Given the description of an element on the screen output the (x, y) to click on. 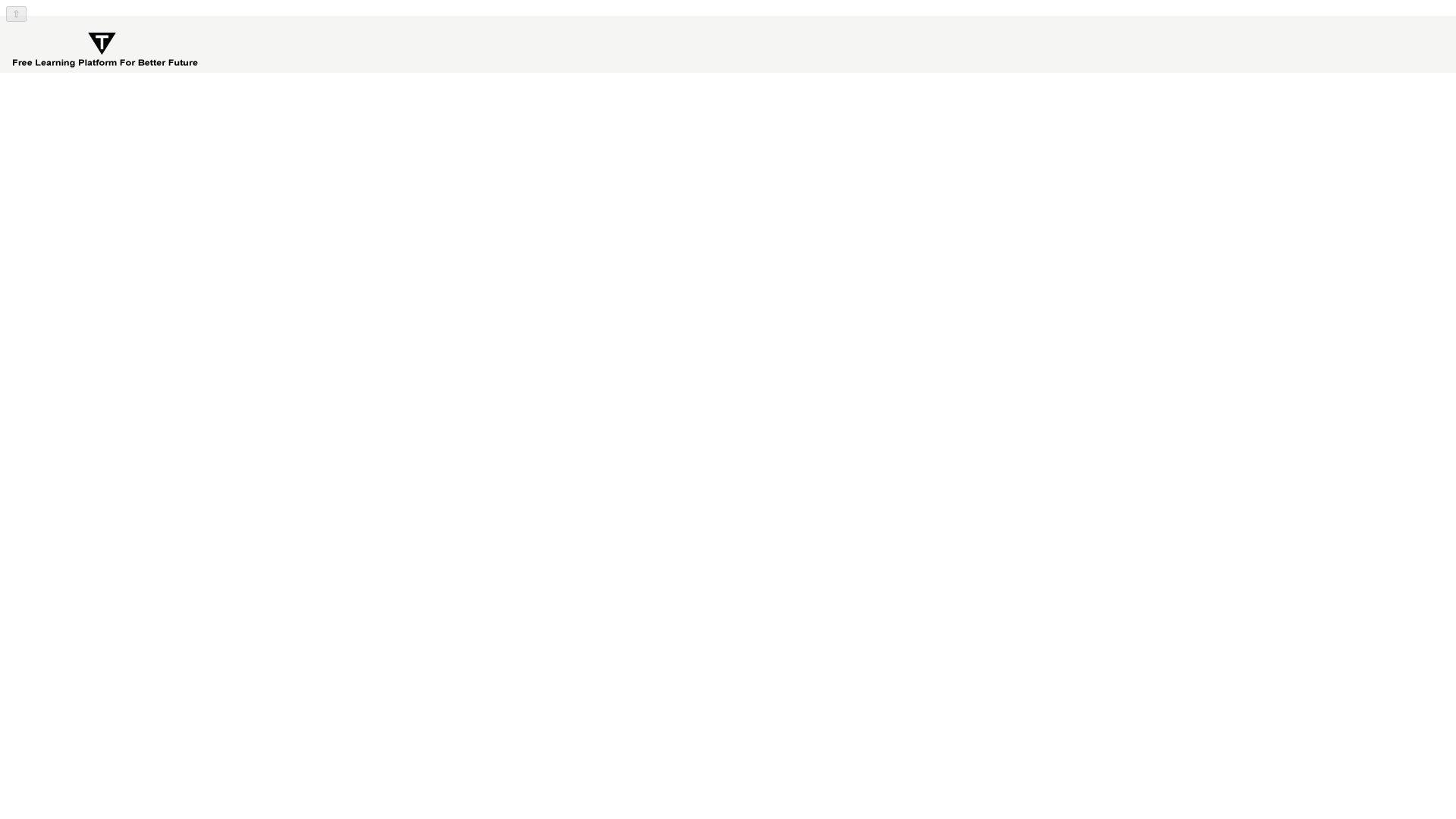
Go to top (15, 13)
